Given the description of an element on the screen output the (x, y) to click on. 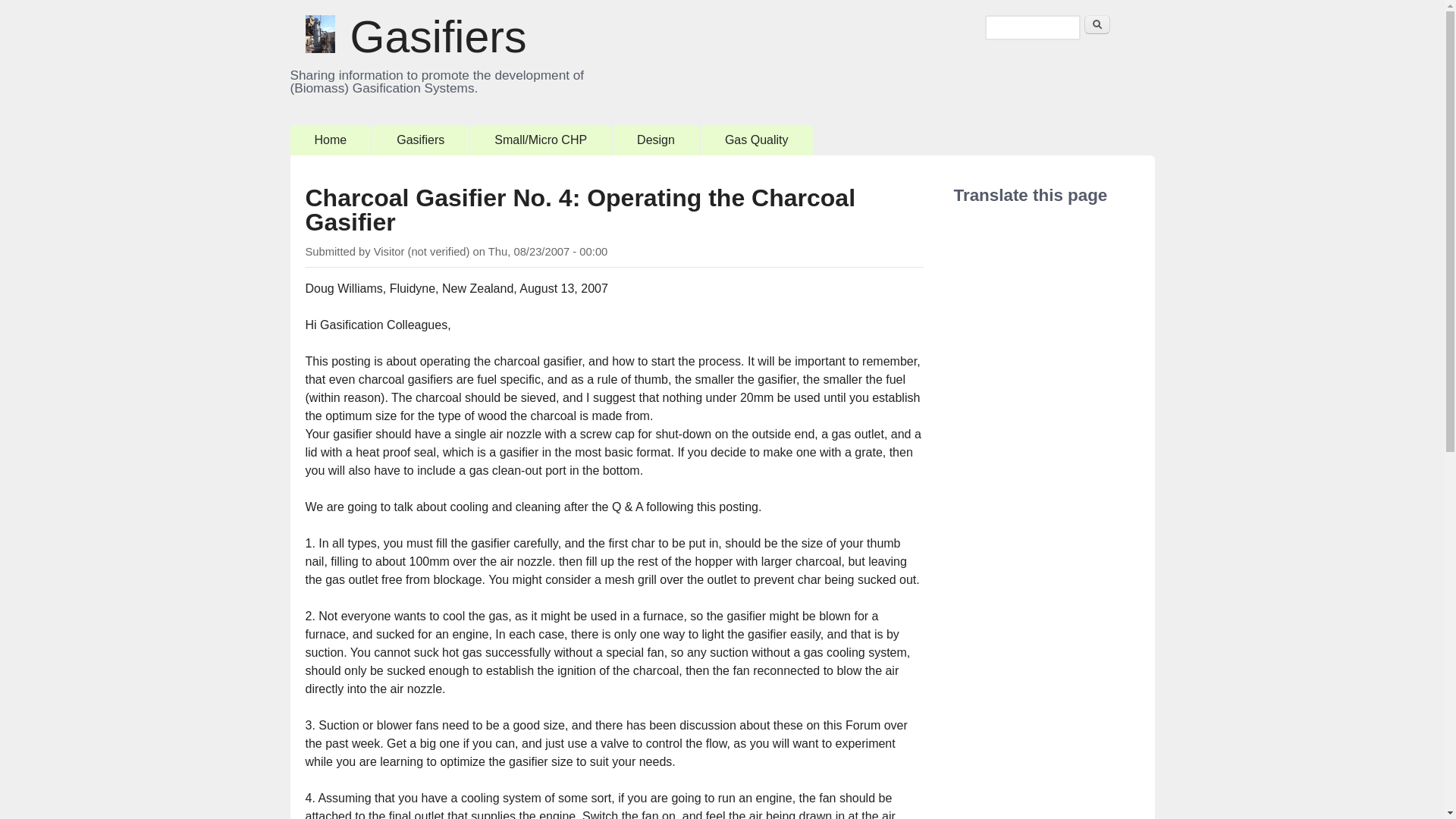
Enter the terms you wish to search for. (1032, 27)
Gas Quality (756, 140)
Search (1096, 24)
Home (330, 140)
Design (655, 140)
Gasifiers (420, 140)
Small and Micro Combined Heat and Power Systems (540, 140)
Gasifier Design (655, 140)
Gasifiers (438, 37)
Home page (438, 37)
